Given the description of an element on the screen output the (x, y) to click on. 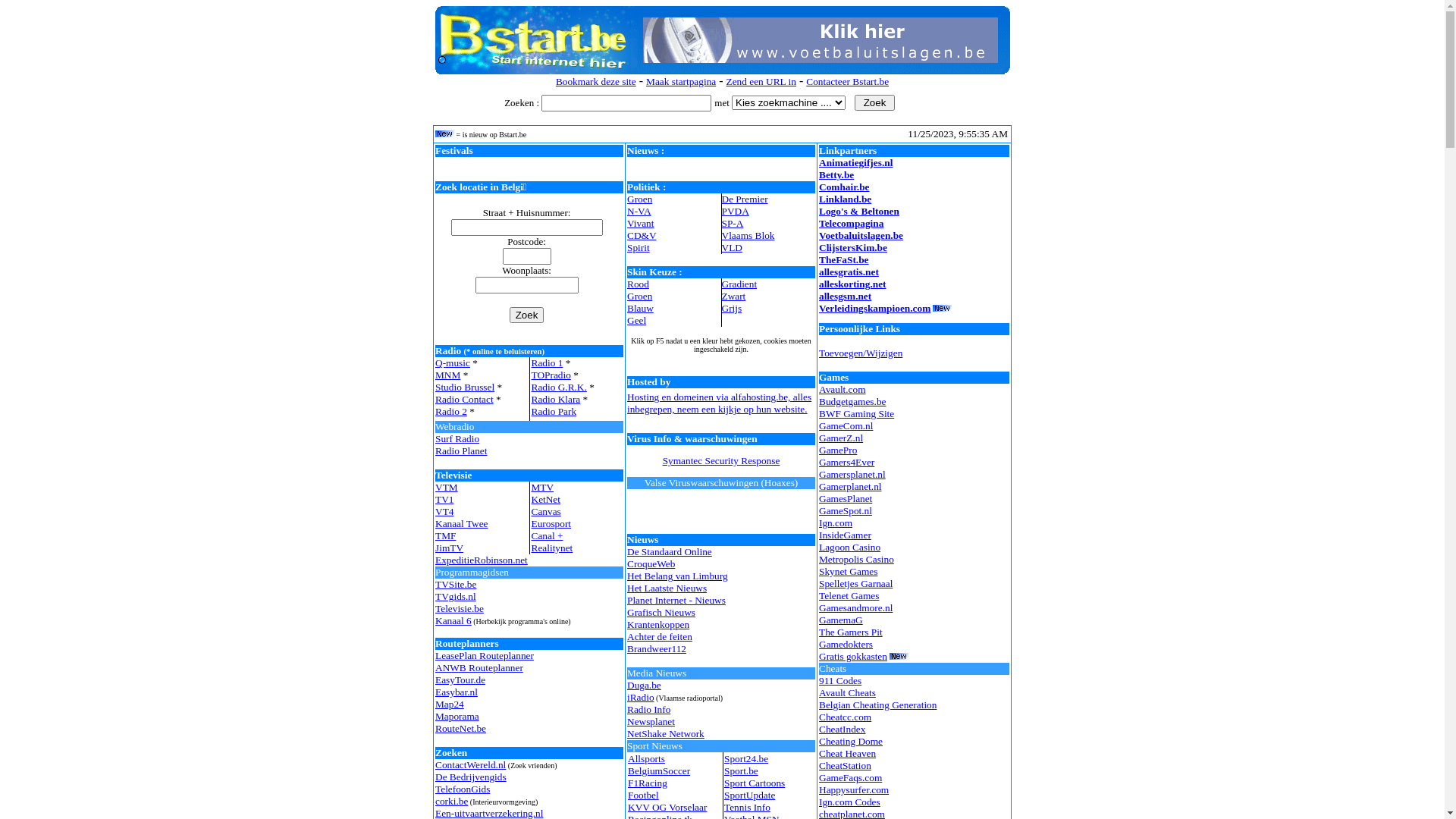
VLD Element type: text (731, 247)
Spelletjes Garnaal Element type: text (855, 583)
Gamers4Ever Element type: text (846, 461)
VT4 Element type: text (444, 511)
Newsplanet Element type: text (650, 721)
Sport.be Element type: text (741, 770)
Sport Cartoons Element type: text (754, 782)
Gratis gokkasten Element type: text (853, 656)
InsideGamer Element type: text (845, 534)
Planet Internet - Nieuws Element type: text (676, 599)
PVDA Element type: text (735, 210)
Linkland.be Element type: text (845, 198)
TV1 Element type: text (444, 499)
ContactWereld.nl Element type: text (470, 764)
Televisie.be Element type: text (459, 608)
MNM Element type: text (447, 374)
corki.be Element type: text (451, 800)
Radio 2 Element type: text (451, 411)
Het Belang van Limburg Element type: text (677, 575)
KetNet Element type: text (545, 499)
SportUpdate Element type: text (749, 794)
Cheat Heaven Element type: text (847, 753)
Symantec Security Response Element type: text (721, 460)
Vlaams Blok Element type: text (748, 235)
Budgetgames.be Element type: text (852, 401)
CD&V Element type: text (641, 235)
Radio 1 Element type: text (546, 362)
iRadio Element type: text (640, 696)
Achter de feiten Element type: text (659, 636)
GamerZ.nl Element type: text (840, 437)
Gamerplanet.nl Element type: text (850, 486)
Voetbaluitslagen.be Element type: text (861, 235)
Gamedokters Element type: text (845, 643)
Telenet Games Element type: text (848, 595)
Gamesandmore.nl Element type: text (855, 607)
Cheatcc.com Element type: text (845, 716)
Allsports Element type: text (646, 758)
Lagoon Casino Element type: text (849, 546)
allesgratis.net Element type: text (848, 271)
Canvas Element type: text (545, 511)
Toevoegen/Wijzigen Element type: text (860, 352)
Map24 Element type: text (449, 703)
Eurosport Element type: text (550, 523)
Radio Info Element type: text (648, 709)
alleskorting.net Element type: text (852, 283)
Avault Cheats Element type: text (847, 692)
Footbel Element type: text (642, 794)
GameSpot.nl Element type: text (845, 510)
BWF Gaming Site Element type: text (856, 413)
VTM Element type: text (446, 486)
Maak startpagina Element type: text (680, 81)
Duga.be Element type: text (644, 684)
Radio G.R.K. Element type: text (558, 386)
Logo's & Beltonen Element type: text (859, 210)
Radio Park Element type: text (553, 411)
Grijs Element type: text (731, 307)
Contacteer Bstart.be Element type: text (847, 81)
Surf Radio Element type: text (457, 438)
Zend een URL in Element type: text (761, 81)
Kanaal 6 Element type: text (453, 620)
Easybar.nl Element type: text (456, 691)
Metropolis Casino Element type: text (856, 558)
Het Laatste Nieuws Element type: text (666, 587)
CroqueWeb Element type: text (650, 563)
TMF Element type: text (445, 535)
N-VA Element type: text (639, 210)
Telecompagina Element type: text (851, 223)
Zoek Element type: text (526, 315)
Bookmark deze site Element type: text (595, 81)
Grafisch Nieuws Element type: text (661, 612)
Tennis Info Element type: text (747, 806)
Betty.be Element type: text (836, 174)
Studio Brussel Element type: text (464, 386)
Gamersplanet.nl Element type: text (852, 474)
SP-A Element type: text (732, 223)
De Bedrijvengids Element type: text (470, 776)
Verleidingskampioen.com Element type: text (874, 307)
Krantenkoppen Element type: text (658, 624)
Radio Klara Element type: text (555, 398)
ExpeditieRobinson.net Element type: text (481, 559)
JimTV Element type: text (449, 547)
GamePro Element type: text (837, 449)
GamemaG Element type: text (840, 619)
Kanaal Twee Element type: text (461, 523)
KVV OG Vorselaar Element type: text (666, 806)
TOPradio Element type: text (550, 374)
Happysurfer.com Element type: text (853, 789)
GameCom.nl Element type: text (845, 425)
Comhair.be Element type: text (844, 186)
911 Codes Element type: text (840, 680)
Geel Element type: text (636, 320)
Brandweer112 Element type: text (656, 648)
Belgian Cheating Generation Element type: text (877, 704)
RouteNet.be Element type: text (460, 728)
TheFaSt.be Element type: text (844, 259)
GamesPlanet Element type: text (845, 498)
De Premier Element type: text (744, 198)
Vivant Element type: text (640, 223)
BelgiumSoccer Element type: text (658, 770)
Maporama Element type: text (457, 715)
Groen Element type: text (639, 295)
ANWB Routeplanner Element type: text (479, 667)
GameFaqs.com Element type: text (850, 777)
Animatiegifjes.nl Element type: text (855, 162)
TVSite.be Element type: text (455, 583)
CheatIndex Element type: text (842, 728)
Sport24.be Element type: text (746, 758)
Canal + Element type: text (546, 535)
Radio Planet Element type: text (460, 450)
Groen Element type: text (639, 198)
allesgsm.net Element type: text (845, 295)
Cheating Dome Element type: text (850, 740)
NetShake Network Element type: text (665, 733)
Ign.com Codes Element type: text (849, 801)
Blauw Element type: text (640, 307)
TelefoonGids Element type: text (462, 788)
EasyTour.de Element type: text (460, 679)
LeasePlan Routeplanner Element type: text (484, 655)
Avault.com Element type: text (842, 389)
 Zoek  Element type: text (874, 102)
Zwart Element type: text (733, 295)
TVgids.nl Element type: text (455, 596)
De Standaard Online Element type: text (669, 551)
The Gamers Pit Element type: text (850, 631)
Rood Element type: text (638, 283)
ClijstersKim.be Element type: text (853, 247)
Gradient Element type: text (739, 283)
Radio Contact Element type: text (464, 398)
Spirit Element type: text (638, 247)
CheatStation Element type: text (845, 765)
Ign.com Element type: text (835, 522)
MTV Element type: text (541, 486)
Q-music Element type: text (452, 362)
F1Racing Element type: text (647, 782)
Skynet Games Element type: text (848, 571)
Realitynet Element type: text (551, 547)
